Given the description of an element on the screen output the (x, y) to click on. 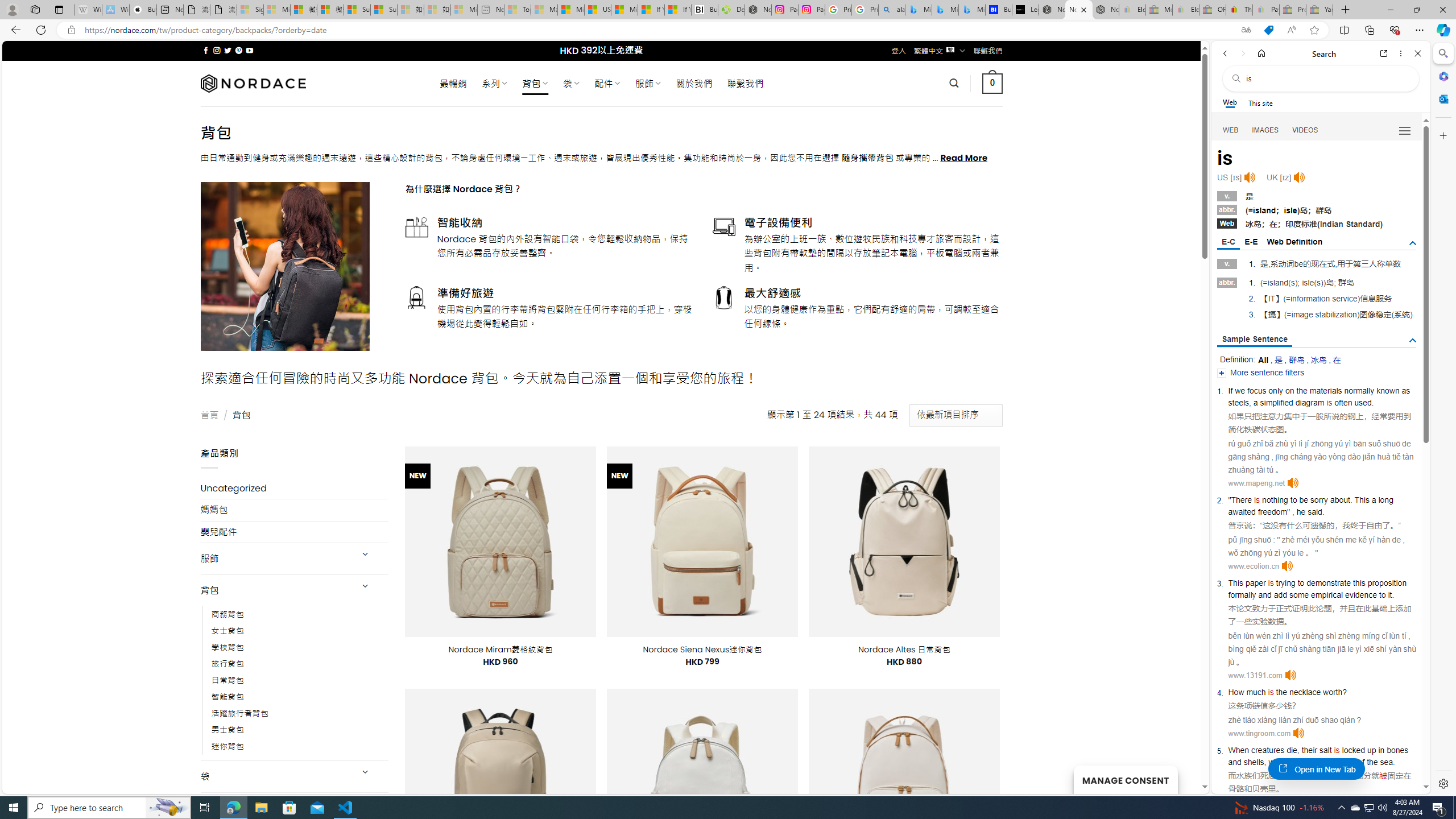
shells (1253, 761)
Microsoft Bing Travel - Shangri-La Hotel Bangkok (971, 9)
Click to listen (1298, 733)
the (1281, 691)
steels (1238, 402)
necklace (1304, 691)
demonstrate (1328, 582)
